Given the description of an element on the screen output the (x, y) to click on. 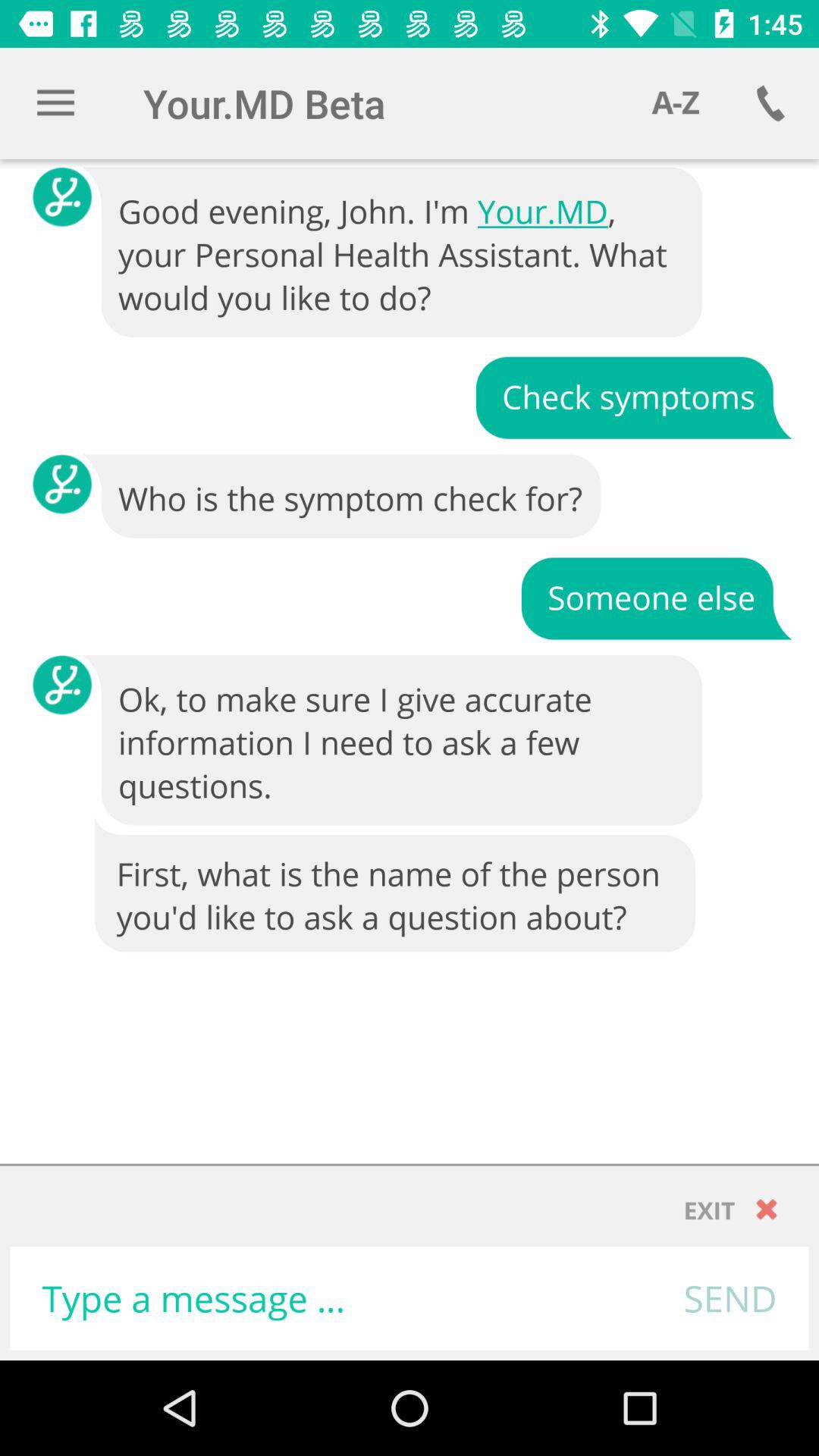
click item above the good evening john (675, 103)
